Given the description of an element on the screen output the (x, y) to click on. 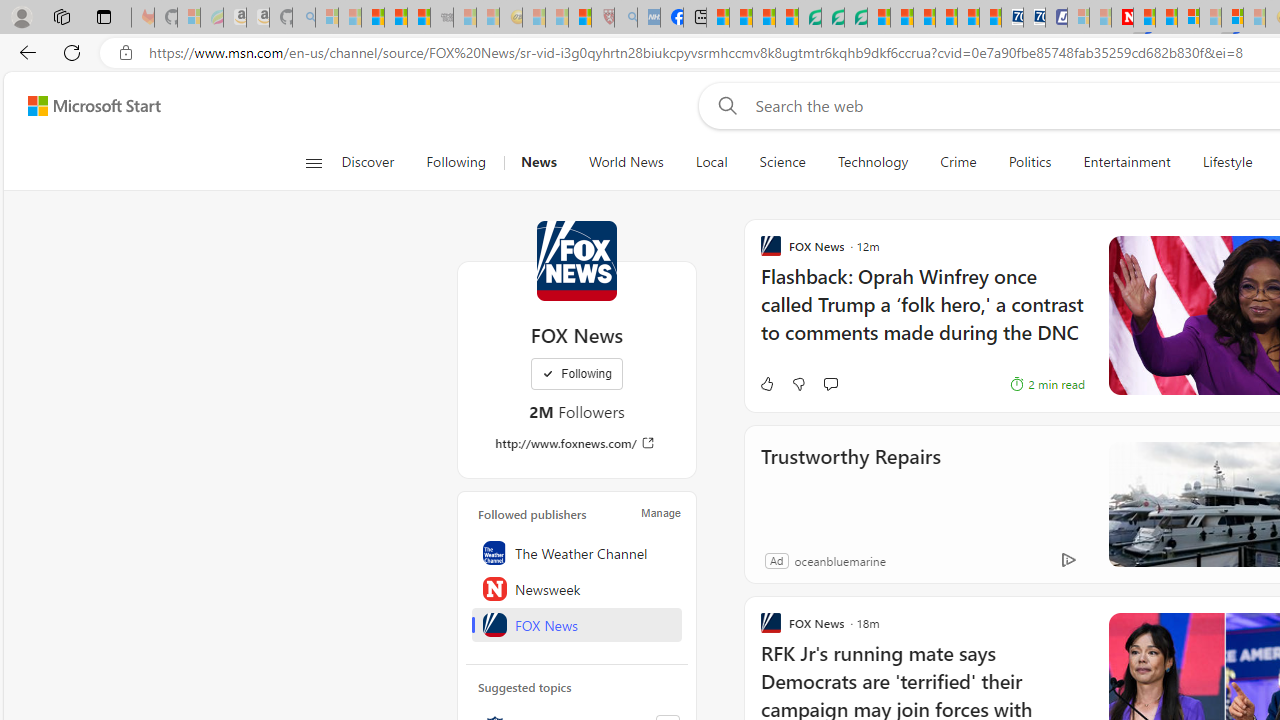
New Report Confirms 2023 Was Record Hot | Watch (419, 17)
